Given the description of an element on the screen output the (x, y) to click on. 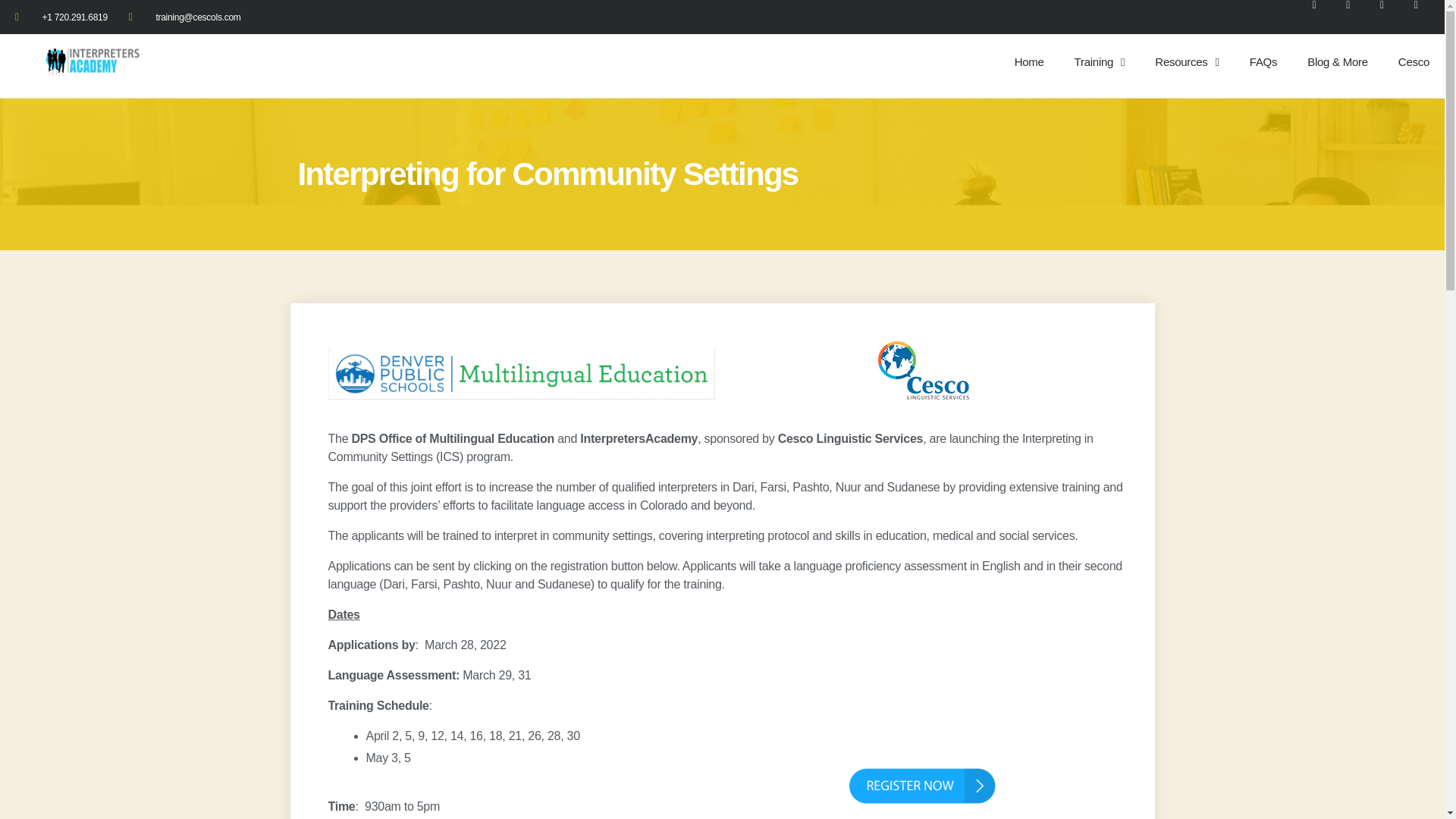
Cesco (1413, 62)
FAQs (1263, 62)
Resources (1198, 62)
DPS logo (520, 373)
